Given the description of an element on the screen output the (x, y) to click on. 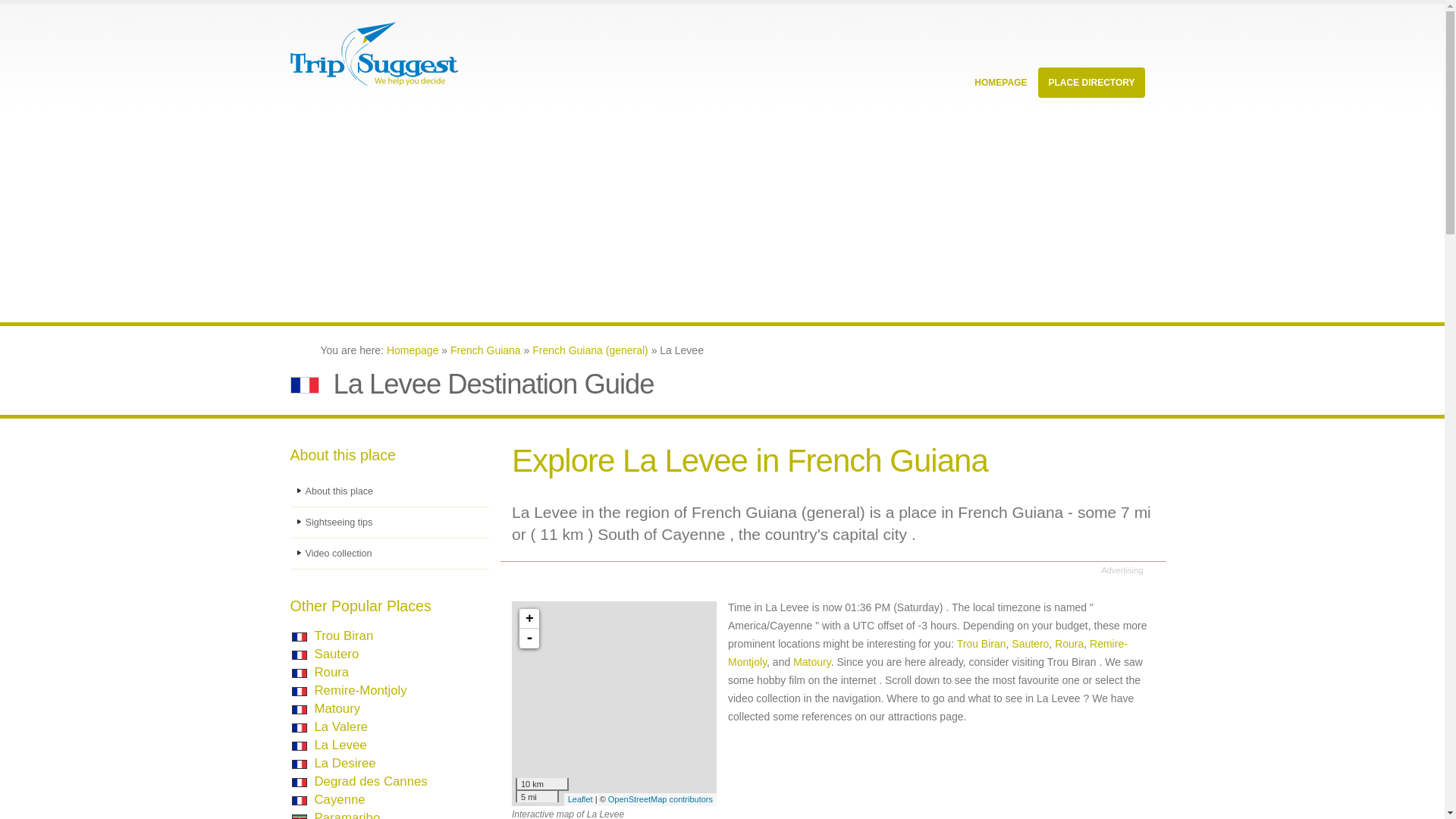
Sautero (336, 653)
HOMEPAGE (999, 82)
Homepage (413, 349)
Remire-Montjoly (360, 690)
La Desiree (344, 762)
Sightseeing tips (389, 522)
Video collection (389, 553)
French Guiana (485, 349)
La Levee (340, 744)
Matoury (336, 708)
